Given the description of an element on the screen output the (x, y) to click on. 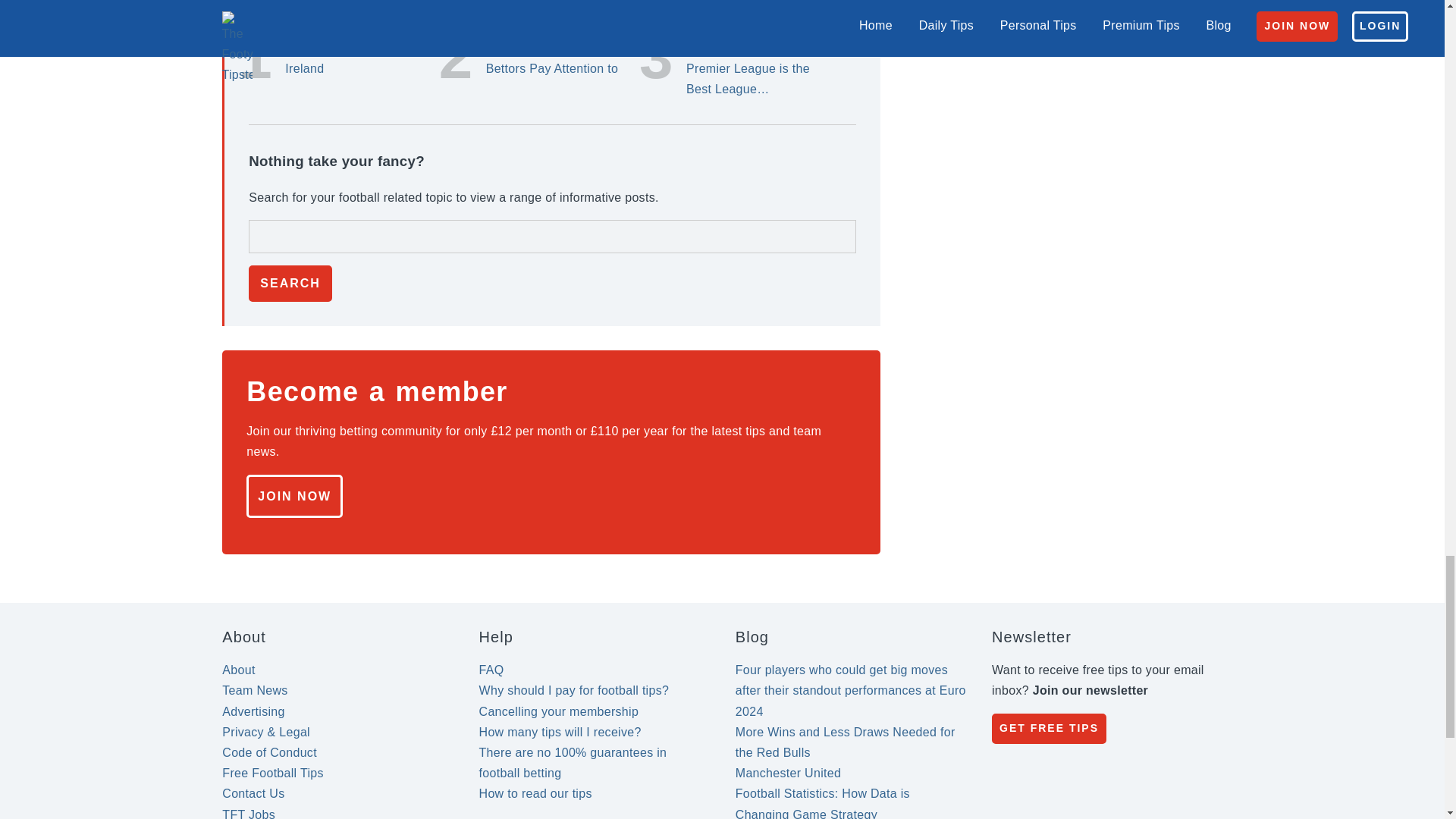
Cancelling your membership (559, 711)
Free Football Tips (272, 772)
FAQ (491, 669)
How to read our tips (535, 793)
Code of Conduct (269, 752)
Search (289, 283)
Why should I pay for football tips? (574, 689)
More Wins and Less Draws Needed for the Red Bulls (845, 742)
Search (289, 283)
